Given the description of an element on the screen output the (x, y) to click on. 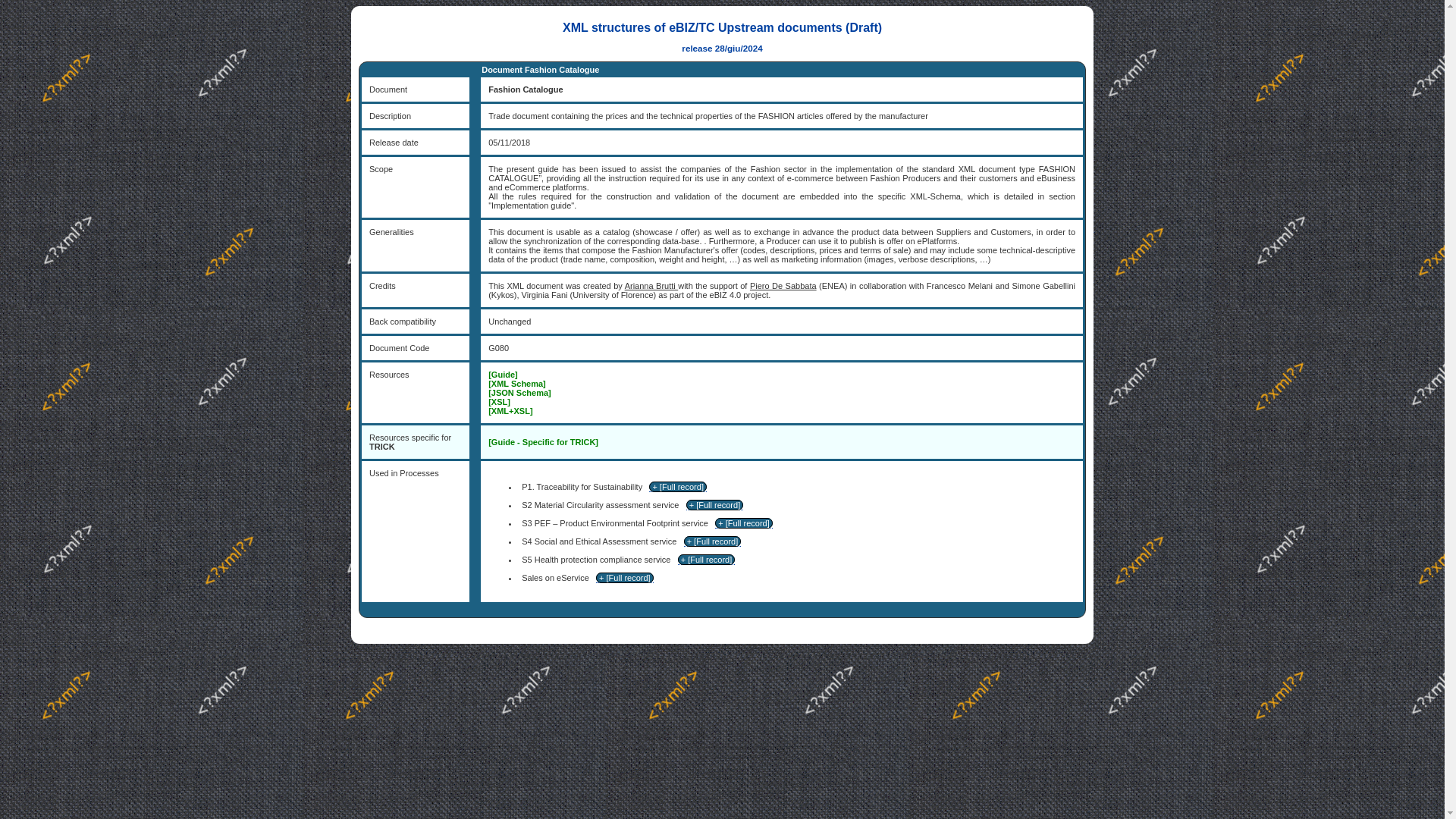
go to JSON Schema (519, 392)
go to XML Schema (516, 383)
Go to the User Guide (542, 441)
go to XSL (499, 401)
Go to the User Guide (502, 374)
